Given the description of an element on the screen output the (x, y) to click on. 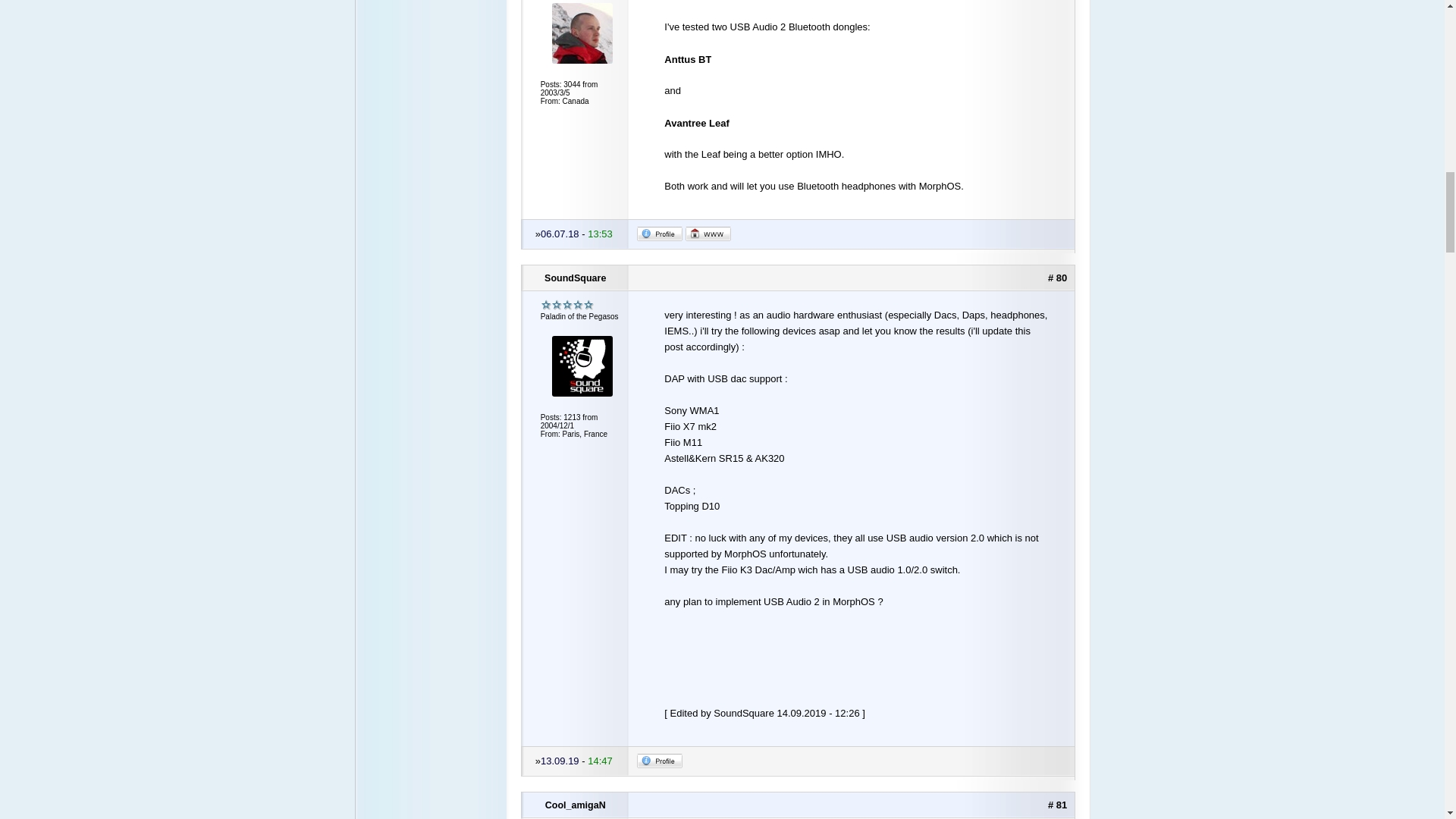
Show alone this post... (1057, 804)
Anttus BT (687, 58)
Paladin of the Pegasos (567, 305)
Show alone this post... (1057, 277)
Avantree Leaf (696, 122)
SoundSquare (575, 277)
